Given the description of an element on the screen output the (x, y) to click on. 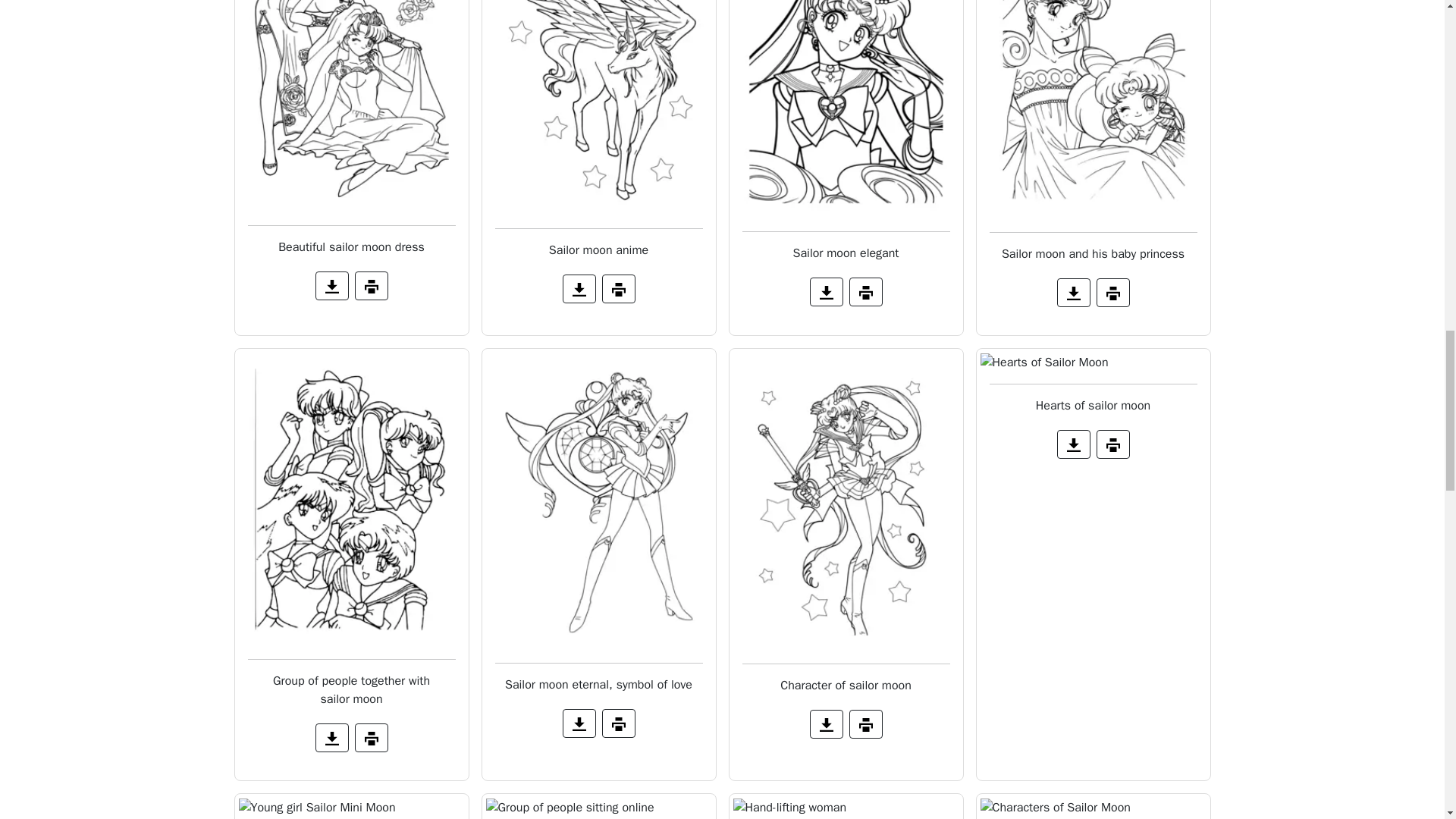
Download the coloring page (332, 737)
Download the coloring page (826, 291)
Print the coloring page (1112, 292)
Print the coloring page (865, 291)
Download the coloring page (1073, 292)
Print the coloring page (371, 285)
Download the coloring page (578, 288)
Print the coloring page (371, 737)
Print the coloring page (618, 288)
Download the coloring page (332, 285)
